Given the description of an element on the screen output the (x, y) to click on. 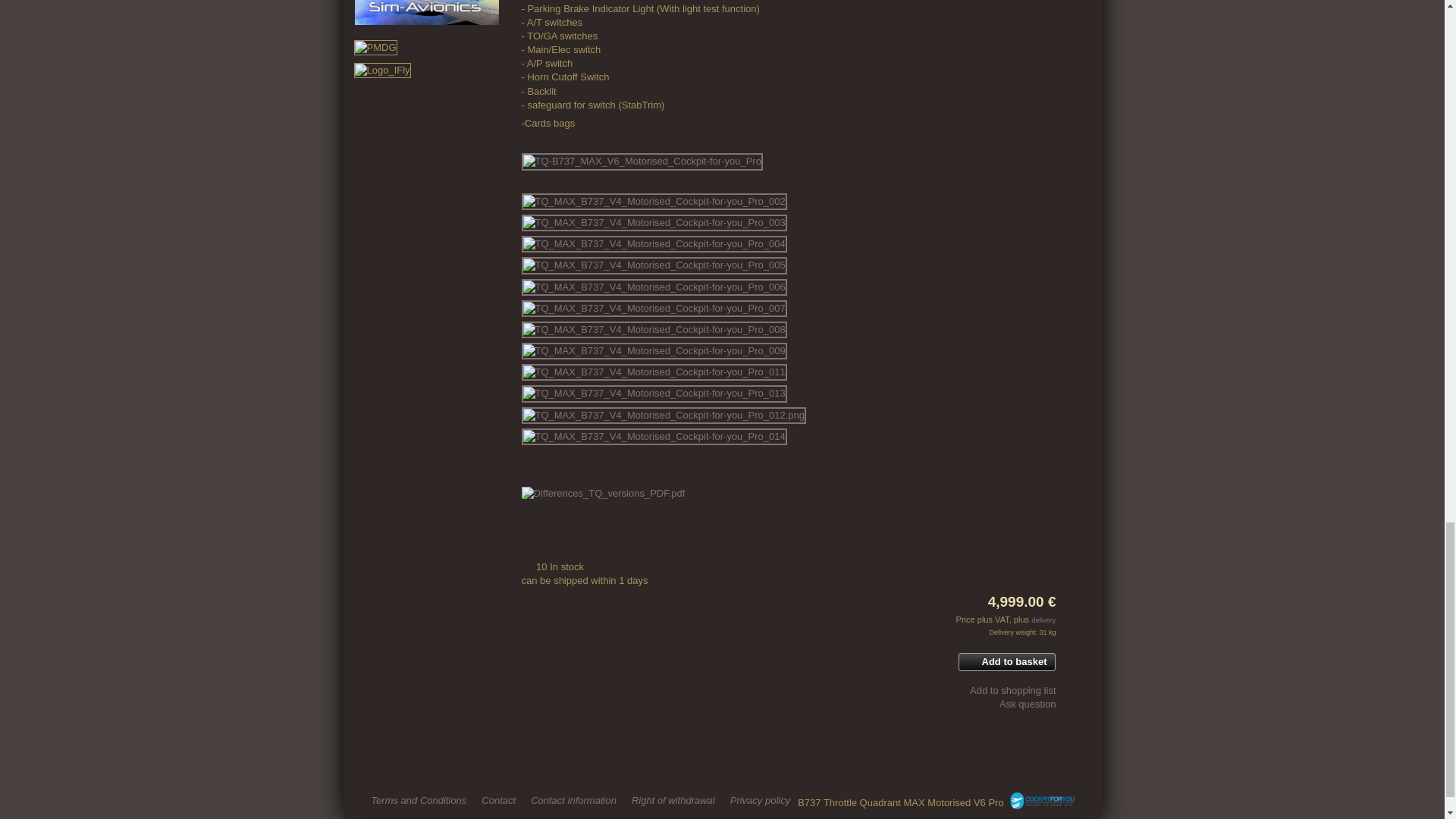
Add to shopping list (1005, 689)
